Given the description of an element on the screen output the (x, y) to click on. 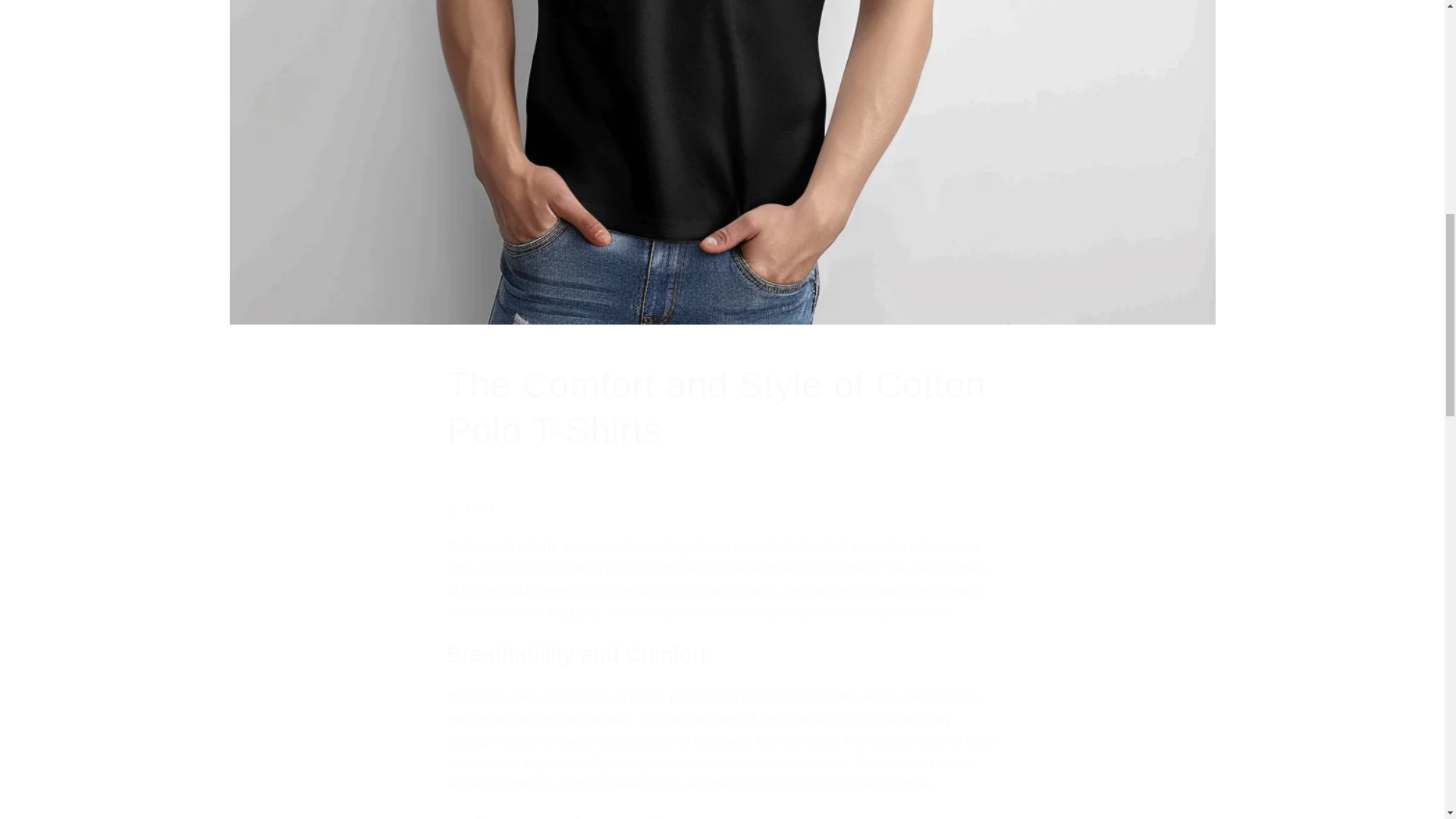
Share (721, 507)
The Comfort and Style of Cotton Polo T-Shirts (721, 407)
